Given the description of an element on the screen output the (x, y) to click on. 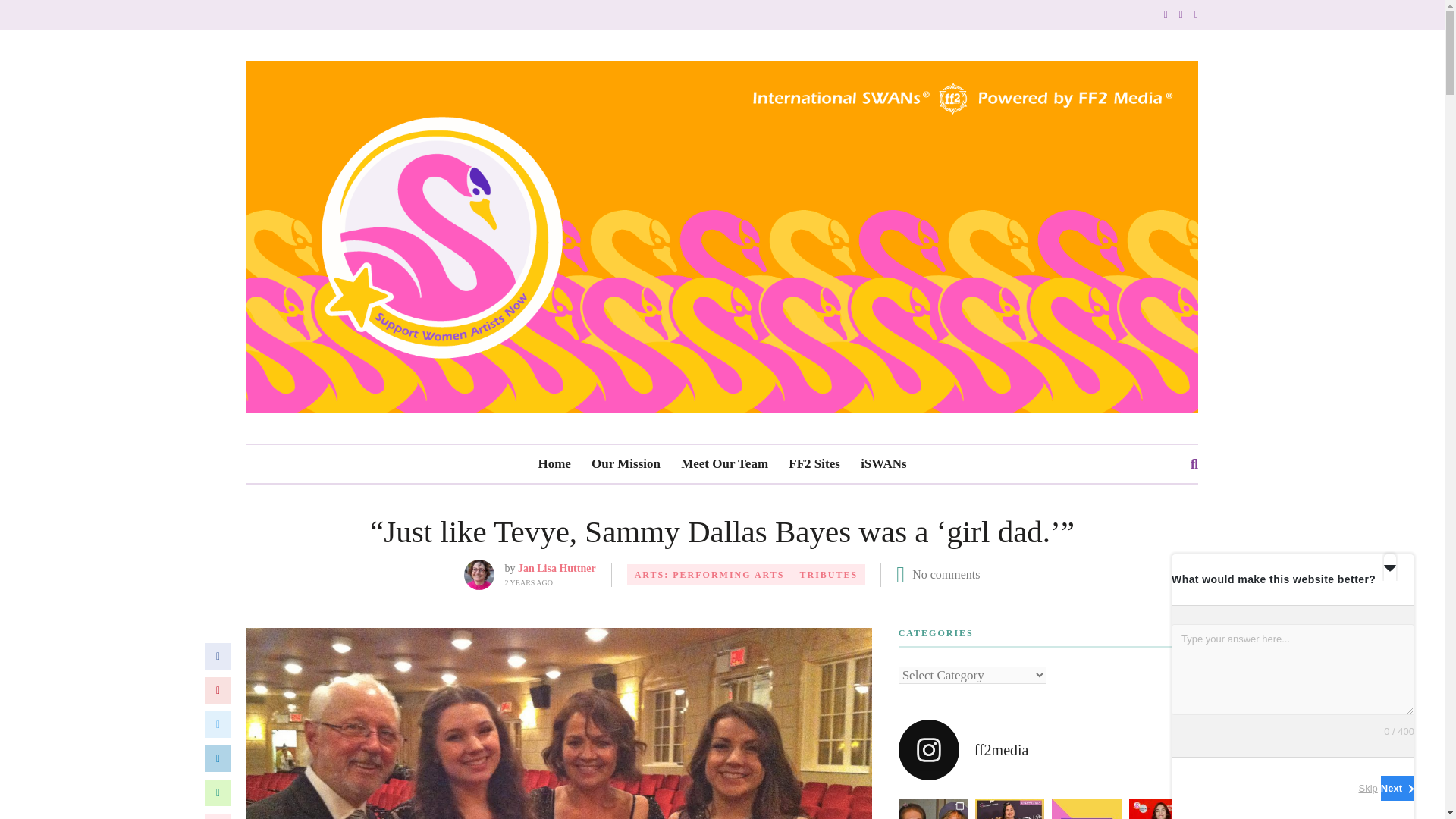
Meet Our Team (724, 464)
Our Mission (626, 464)
TRIBUTES (829, 574)
iSWANs (882, 464)
FF2 Sites (814, 464)
ARTS: PERFORMING ARTS (709, 574)
Jan Lisa Huttner (556, 568)
No comments (945, 574)
